Given the description of an element on the screen output the (x, y) to click on. 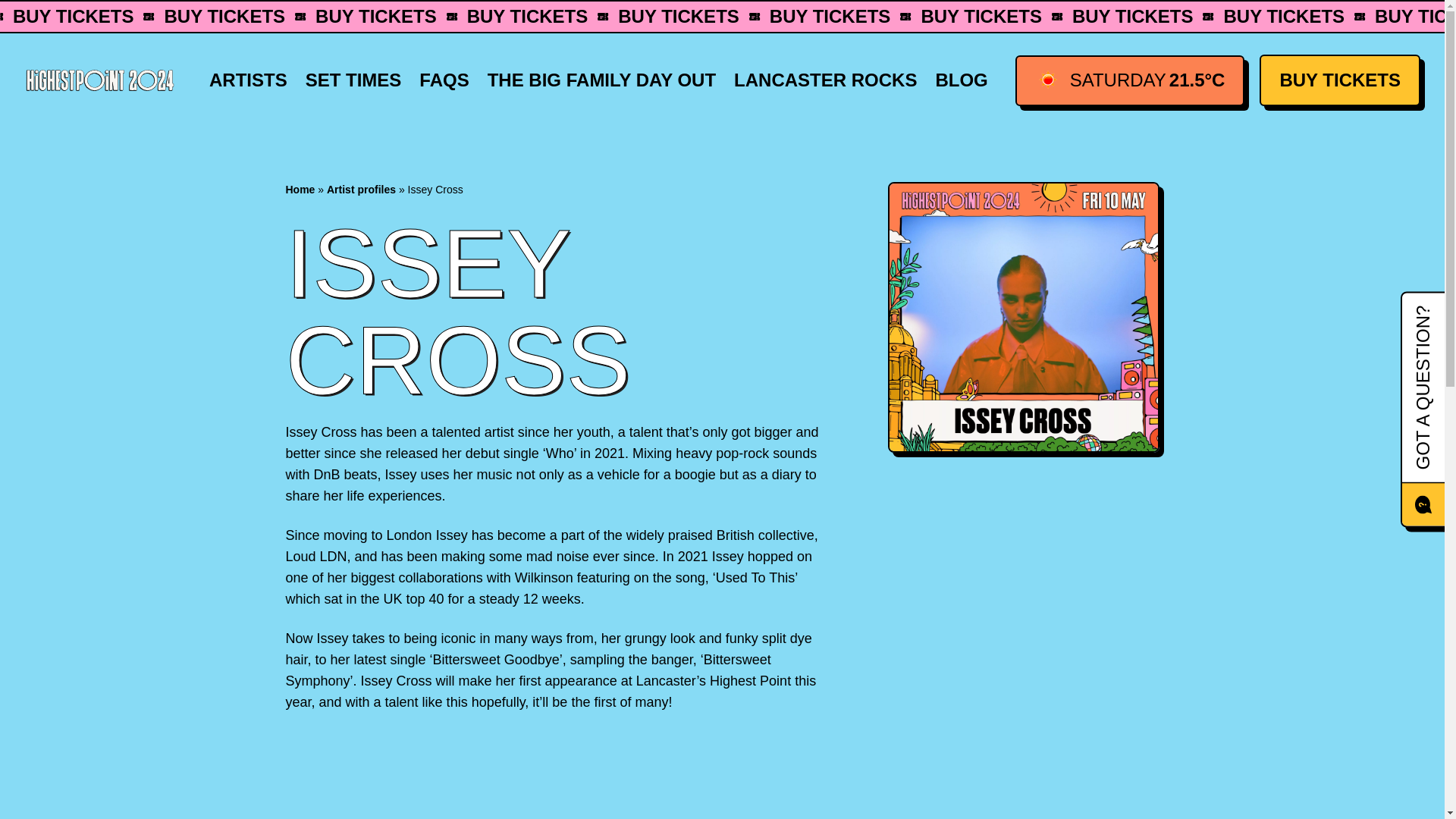
Home (299, 189)
ARTISTS (248, 80)
BUY TICKETS (1340, 80)
HP 23 Wordmark Off White (100, 80)
Artist profiles (361, 189)
FAQS (443, 80)
SET TIMES (353, 80)
THE BIG FAMILY DAY OUT (602, 80)
BLOG (960, 80)
LANCASTER ROCKS (825, 80)
